Given the description of an element on the screen output the (x, y) to click on. 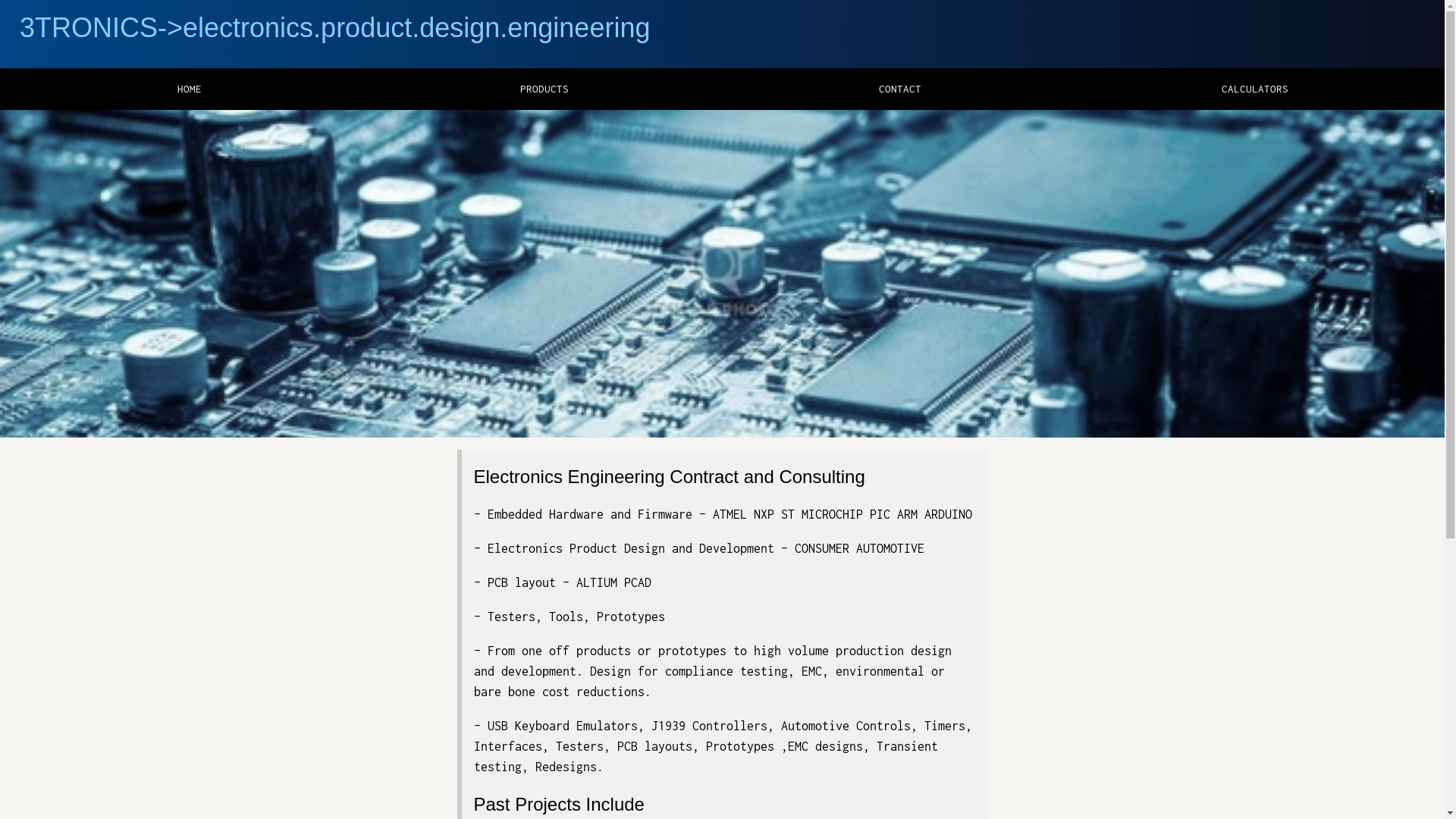
PRODUCTS Element type: text (544, 88)
CALCULATORS Element type: text (1254, 88)
HOME Element type: text (189, 88)
CONTACT Element type: text (898, 88)
